Given the description of an element on the screen output the (x, y) to click on. 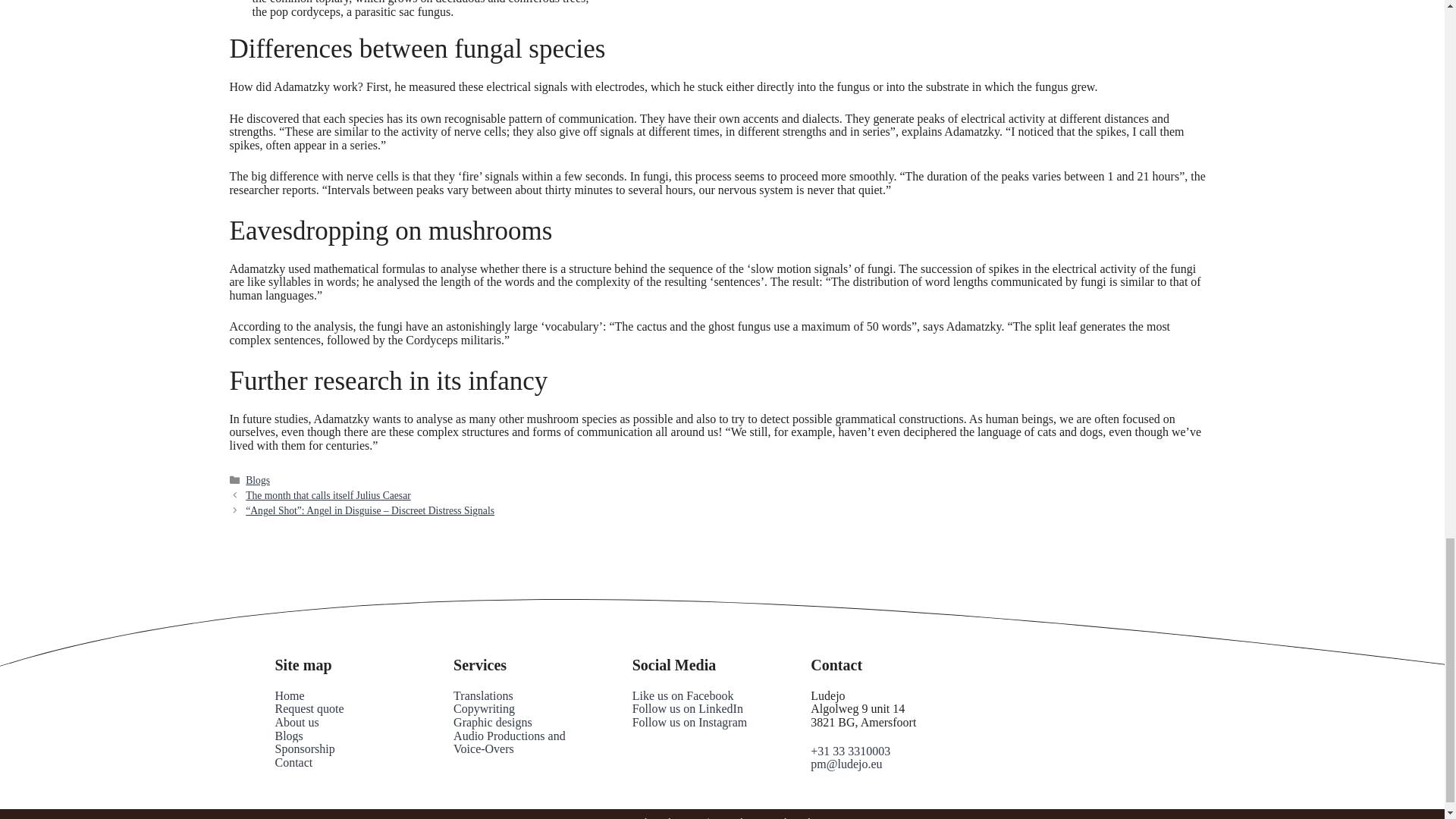
Follow us on LinkedIn (686, 707)
Home (289, 695)
Copywriting (483, 707)
Translations (482, 695)
Like us on Facebook (682, 695)
Graphic designs (492, 721)
The month that calls itself Julius Caesar (328, 495)
Request quote (309, 707)
Blogs (288, 735)
About us (296, 721)
